Given the description of an element on the screen output the (x, y) to click on. 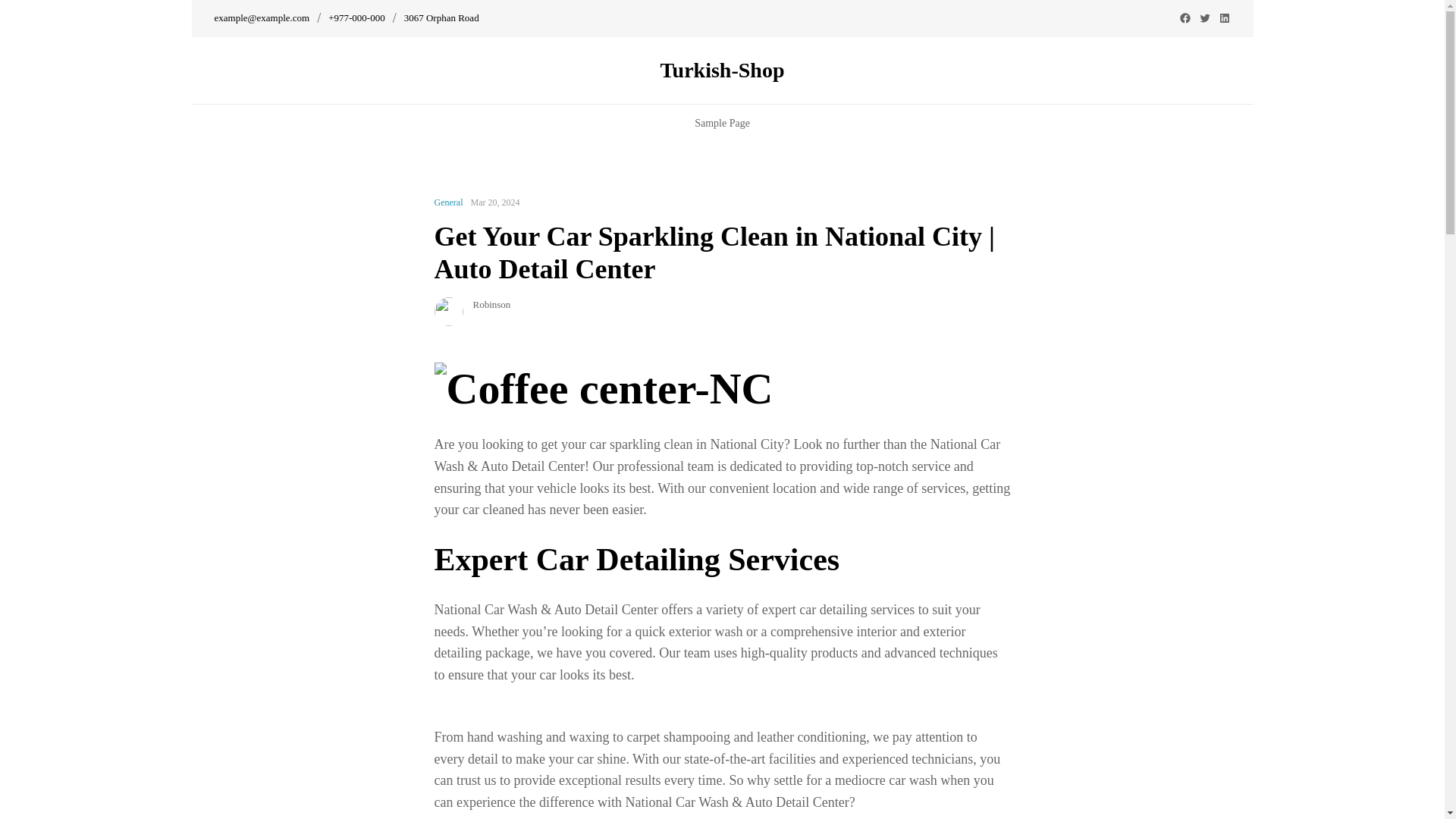
General (448, 202)
Turkish-Shop (722, 69)
Twitter (1203, 18)
3067 Orphan Road (441, 17)
Facebook (1184, 18)
Sample Page (722, 123)
LinkedIn (1223, 18)
